Given the description of an element on the screen output the (x, y) to click on. 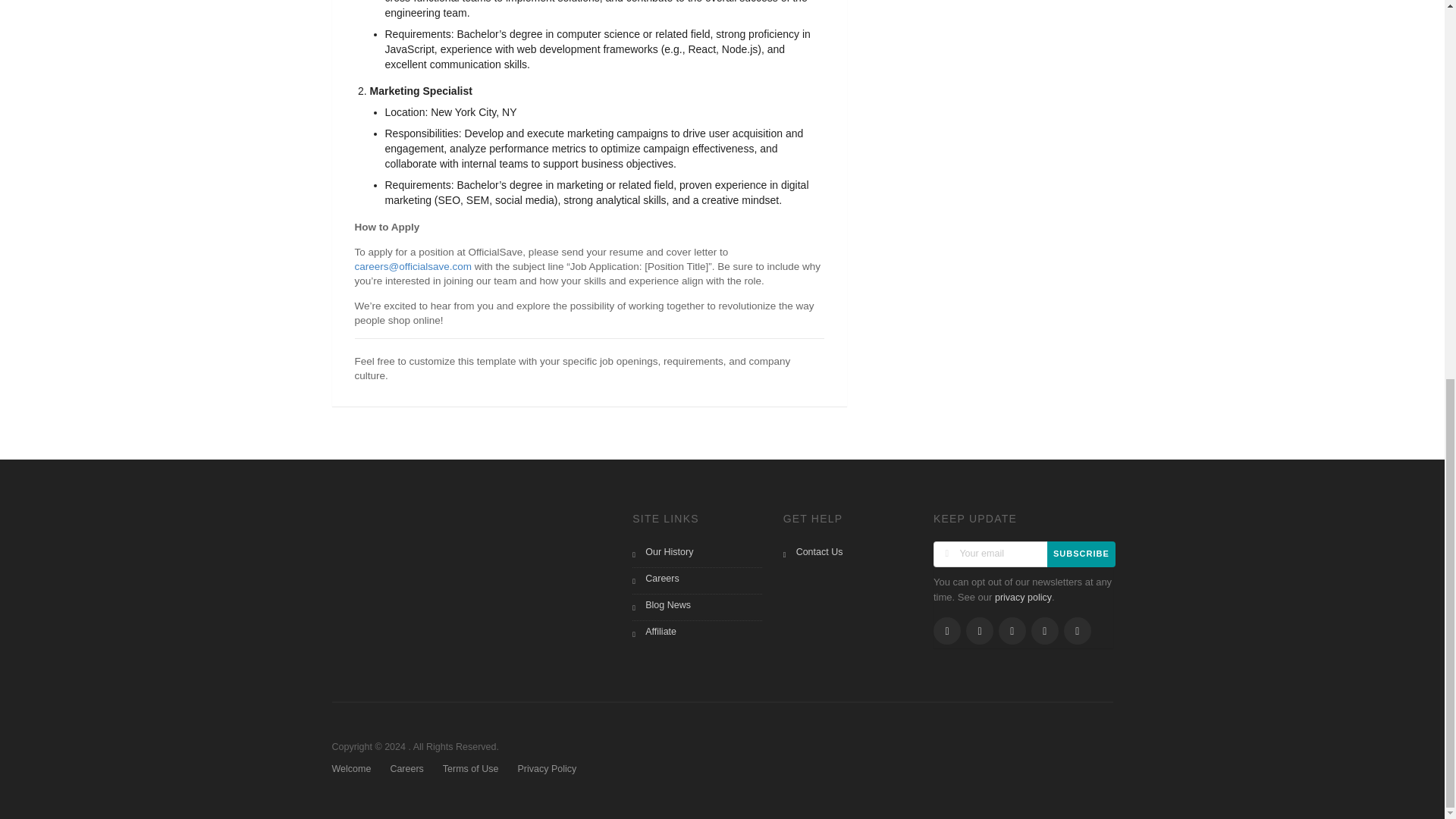
Affiliate (696, 633)
Contact Us (847, 554)
privacy policy (1022, 597)
Privacy Policy (546, 769)
Blog News (696, 607)
Terms of Use (470, 769)
Welcome (351, 769)
Careers (406, 769)
Careers (696, 581)
Our History (696, 554)
